Given the description of an element on the screen output the (x, y) to click on. 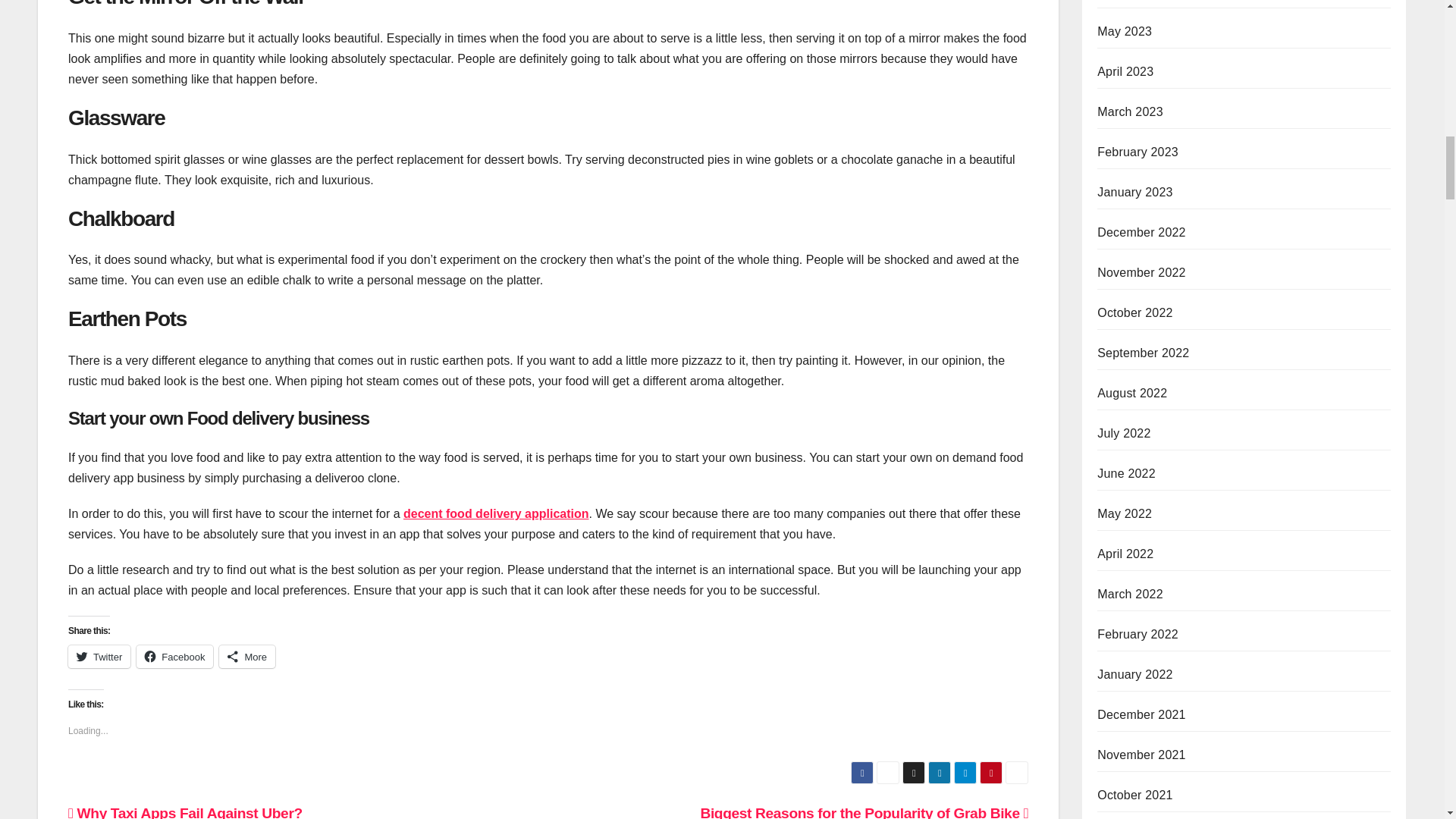
More (247, 656)
decent food delivery application (496, 513)
Twitter (99, 656)
Facebook (174, 656)
Click to share on Facebook (174, 656)
Click to share on Twitter (99, 656)
